Given the description of an element on the screen output the (x, y) to click on. 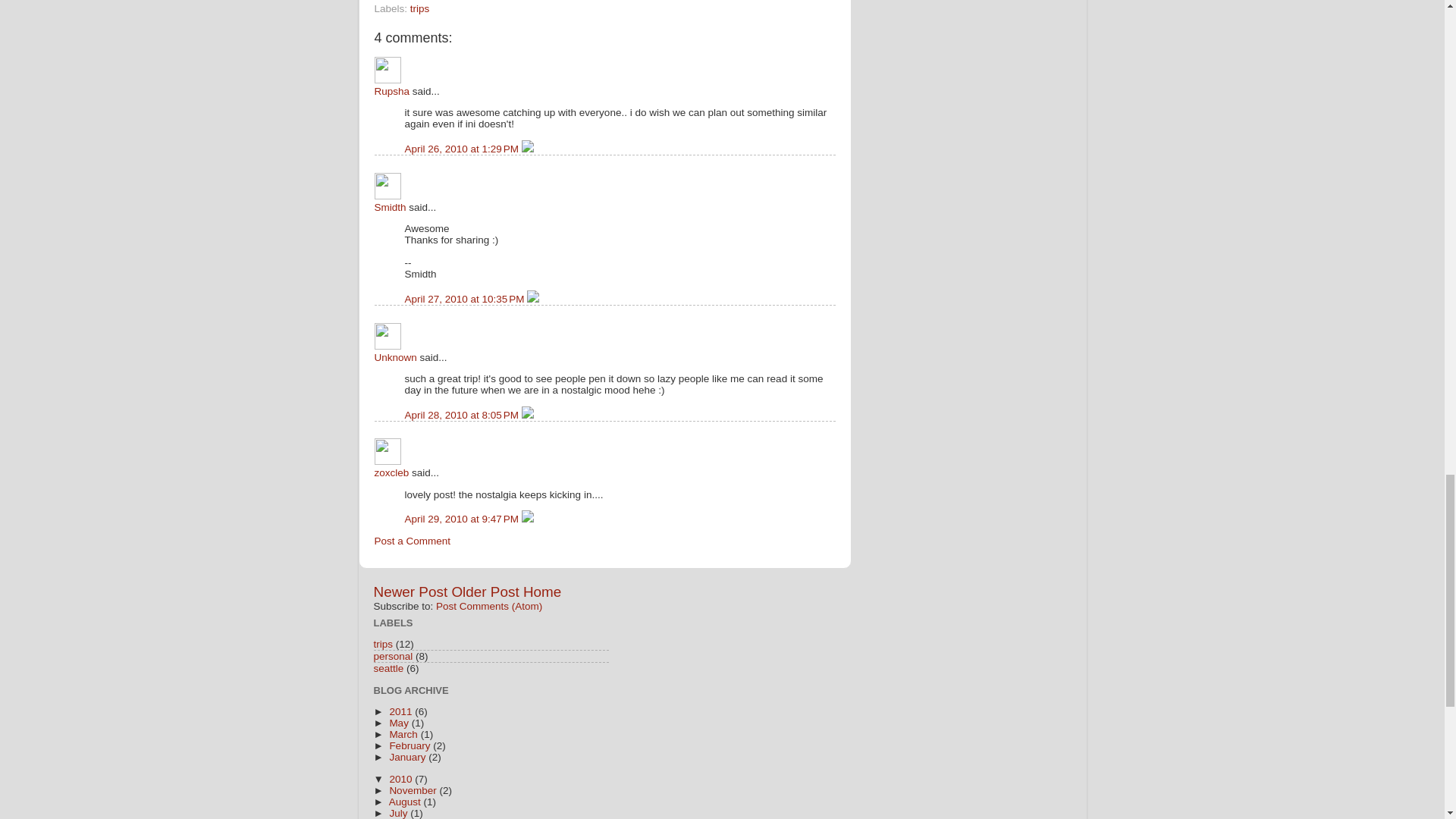
zoxcleb (387, 451)
Older Post (484, 591)
Delete Comment (527, 414)
trips (382, 644)
Post a Comment (412, 541)
comment permalink (462, 414)
Newer Post (409, 591)
Delete Comment (532, 298)
comment permalink (462, 148)
Home (541, 591)
Smidth (387, 185)
Rupsha (392, 91)
